Given the description of an element on the screen output the (x, y) to click on. 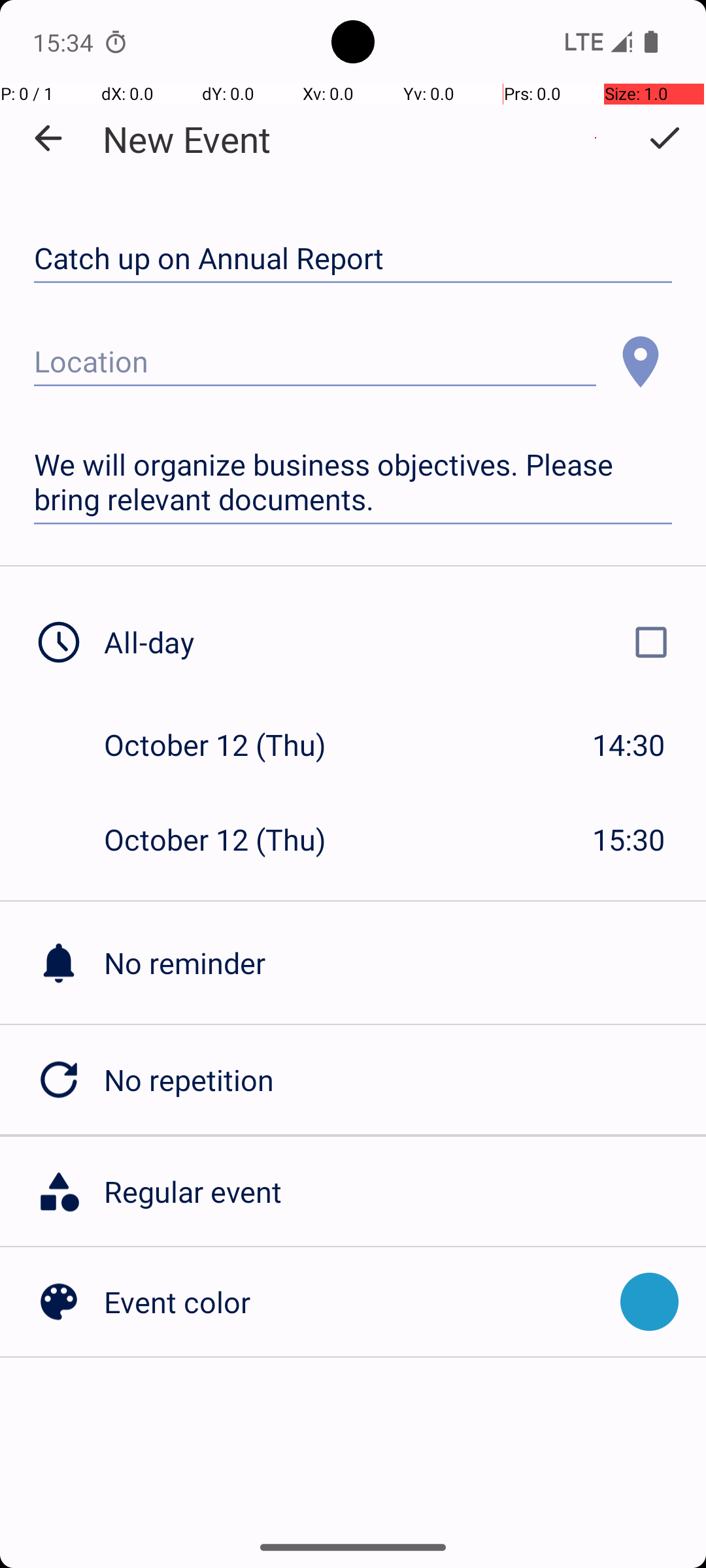
We will organize business objectives. Please bring relevant documents. Element type: android.widget.EditText (352, 482)
October 12 (Thu) Element type: android.widget.TextView (228, 744)
14:30 Element type: android.widget.TextView (628, 744)
15:30 Element type: android.widget.TextView (628, 838)
